Given the description of an element on the screen output the (x, y) to click on. 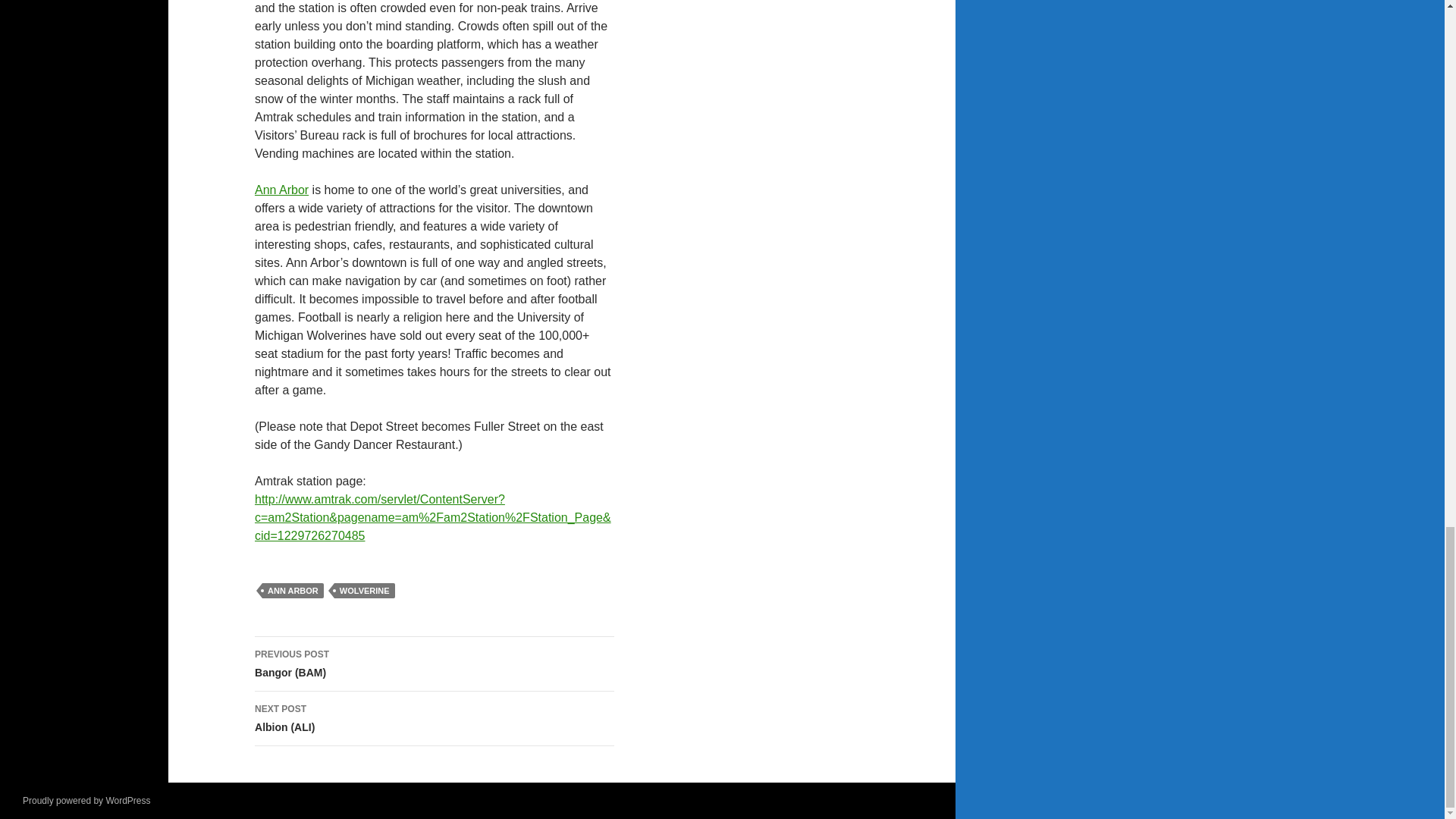
WOLVERINE (364, 590)
Ann Arbor (281, 189)
ANN ARBOR (292, 590)
